Given the description of an element on the screen output the (x, y) to click on. 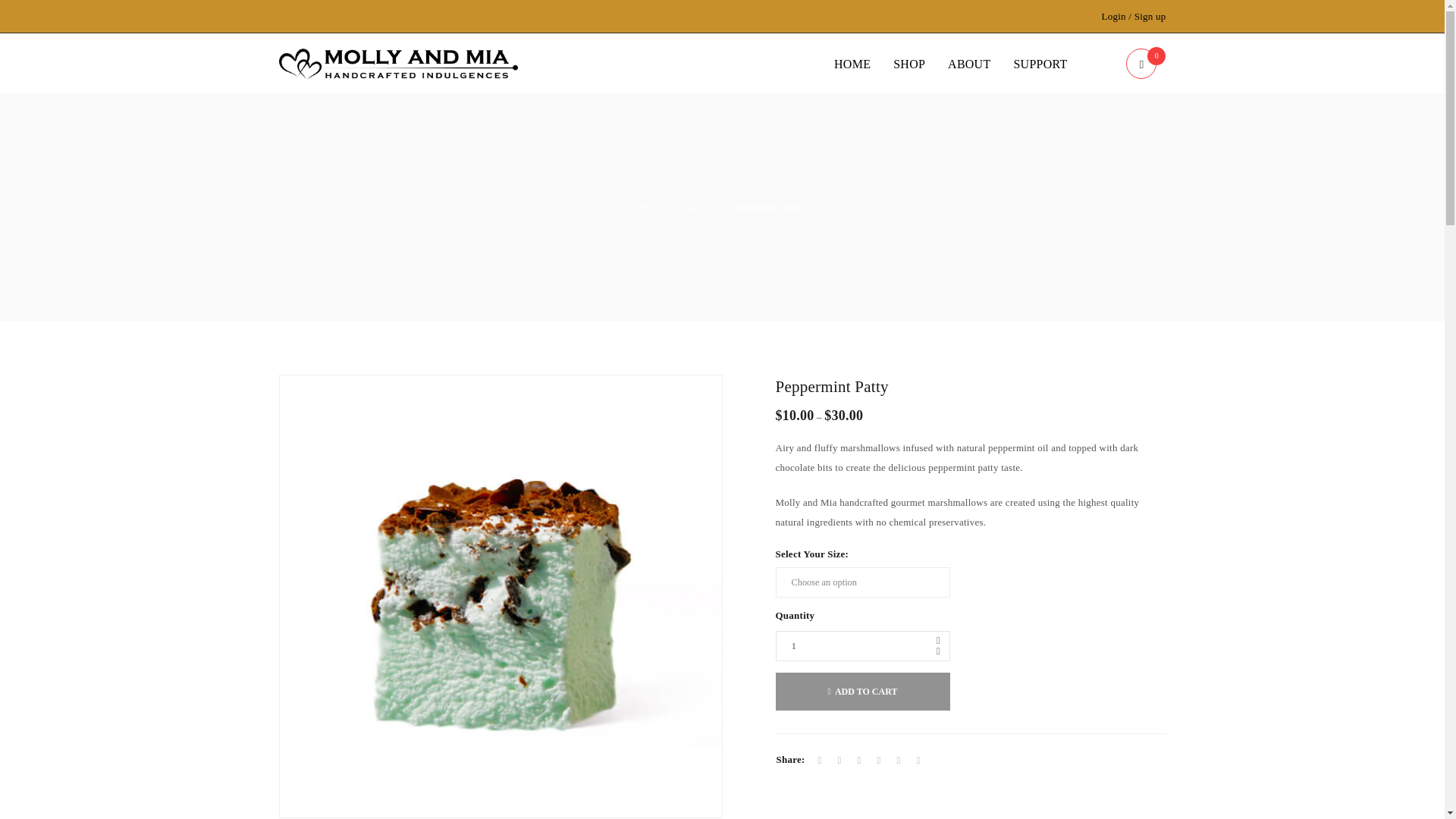
MollyAndMia.com (398, 63)
Login (1112, 16)
Login (1112, 16)
Create New Account (1150, 16)
Log in (626, 507)
SUPPORT (1040, 63)
HOME (852, 63)
- (937, 651)
Qty (861, 645)
